Given the description of an element on the screen output the (x, y) to click on. 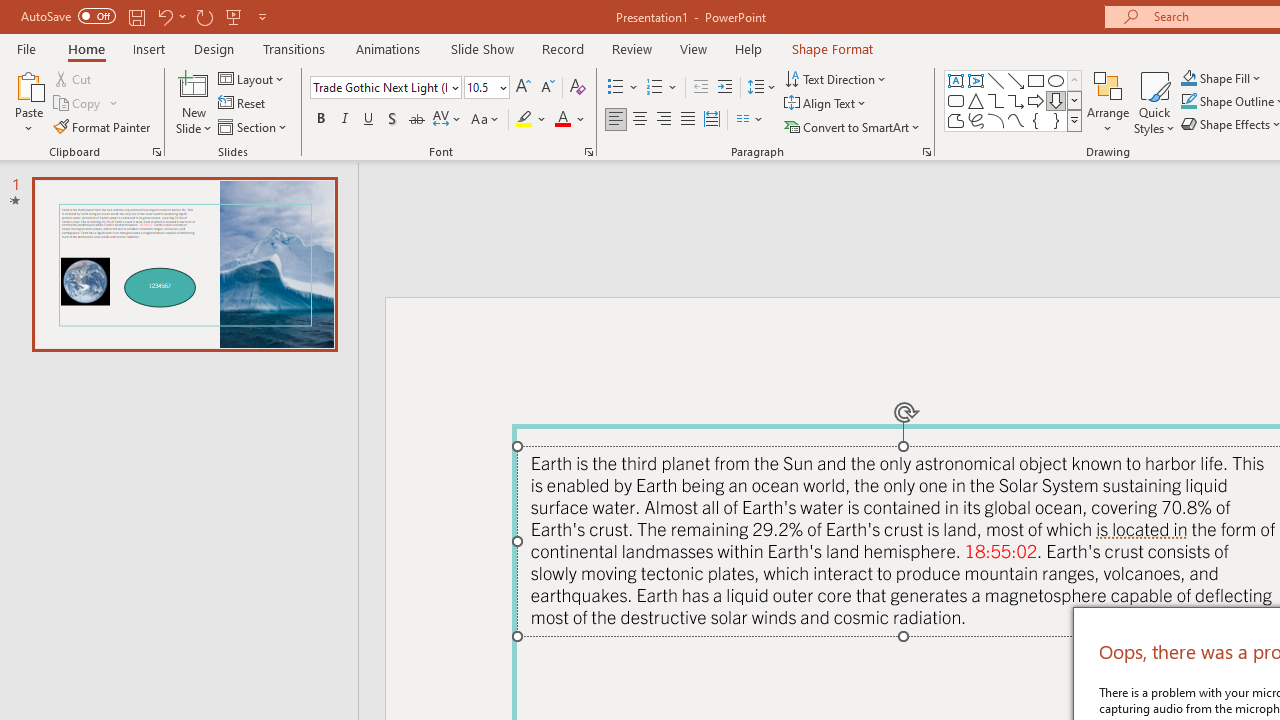
Font Color (569, 119)
Format Painter (103, 126)
Arrange (1108, 102)
Undo (164, 15)
Align Text (826, 103)
Quick Access Toolbar (145, 16)
Class: NetUIImage (1075, 120)
Font (379, 87)
Bullets (616, 87)
Paragraph... (926, 151)
Insert (149, 48)
Align Right (663, 119)
Freeform: Shape (955, 120)
Numbering (661, 87)
Font Color Red (562, 119)
